Given the description of an element on the screen output the (x, y) to click on. 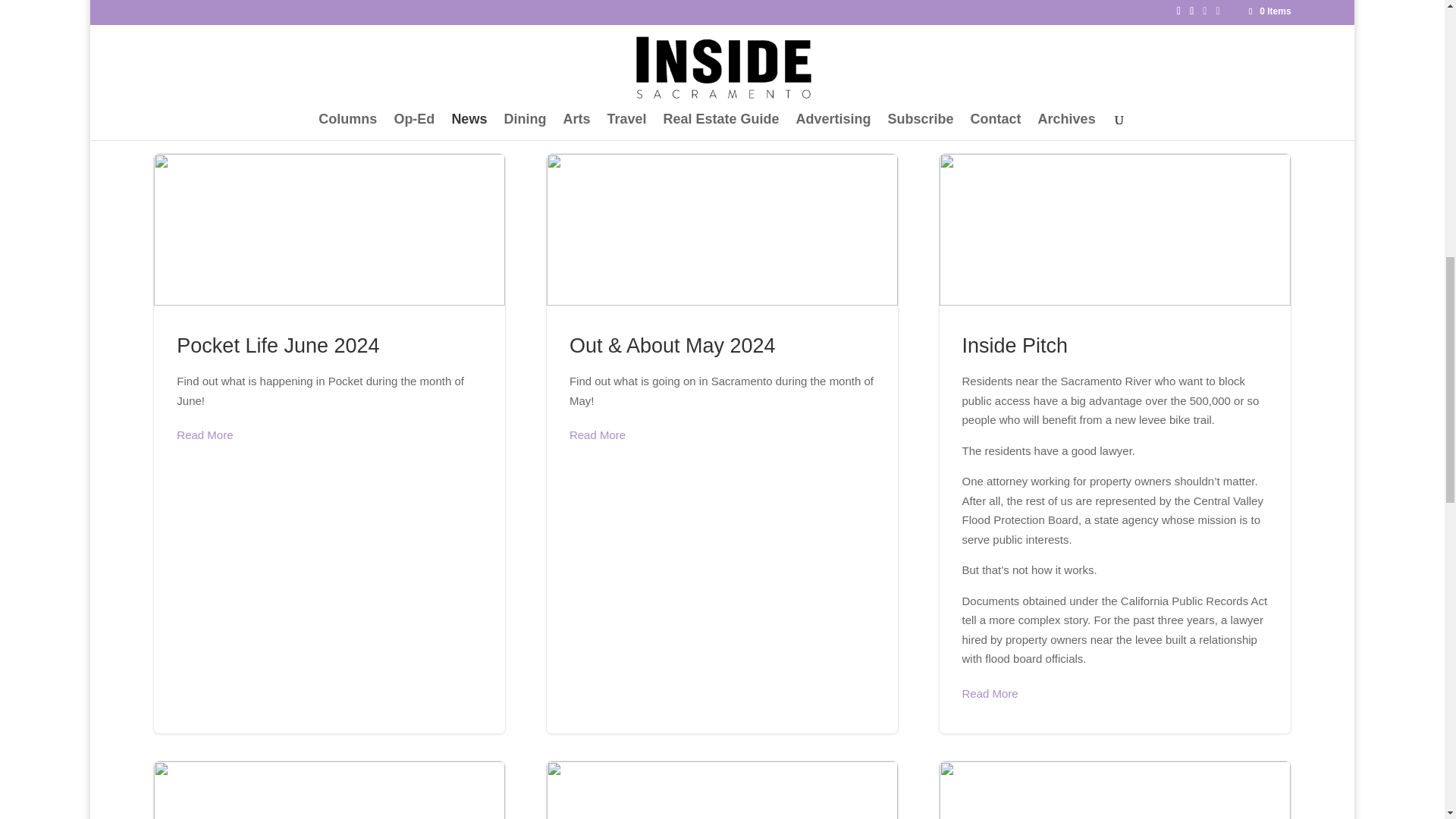
Read More (597, 435)
Pocket Life June 2024 (277, 345)
Read More (597, 85)
Read More (204, 435)
Read More (204, 27)
